Given the description of an element on the screen output the (x, y) to click on. 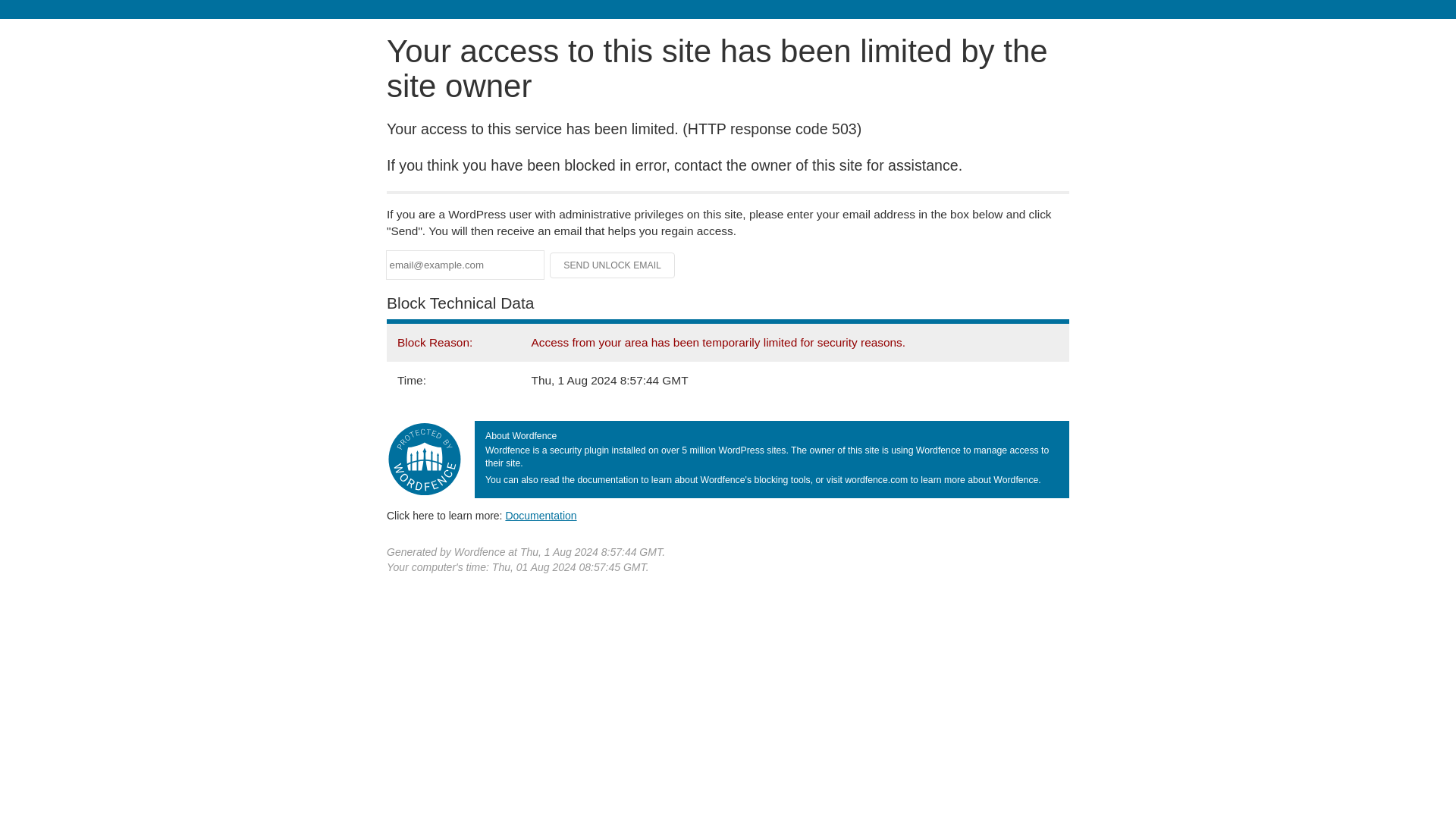
Documentation (540, 515)
Send Unlock Email (612, 265)
Send Unlock Email (612, 265)
